Given the description of an element on the screen output the (x, y) to click on. 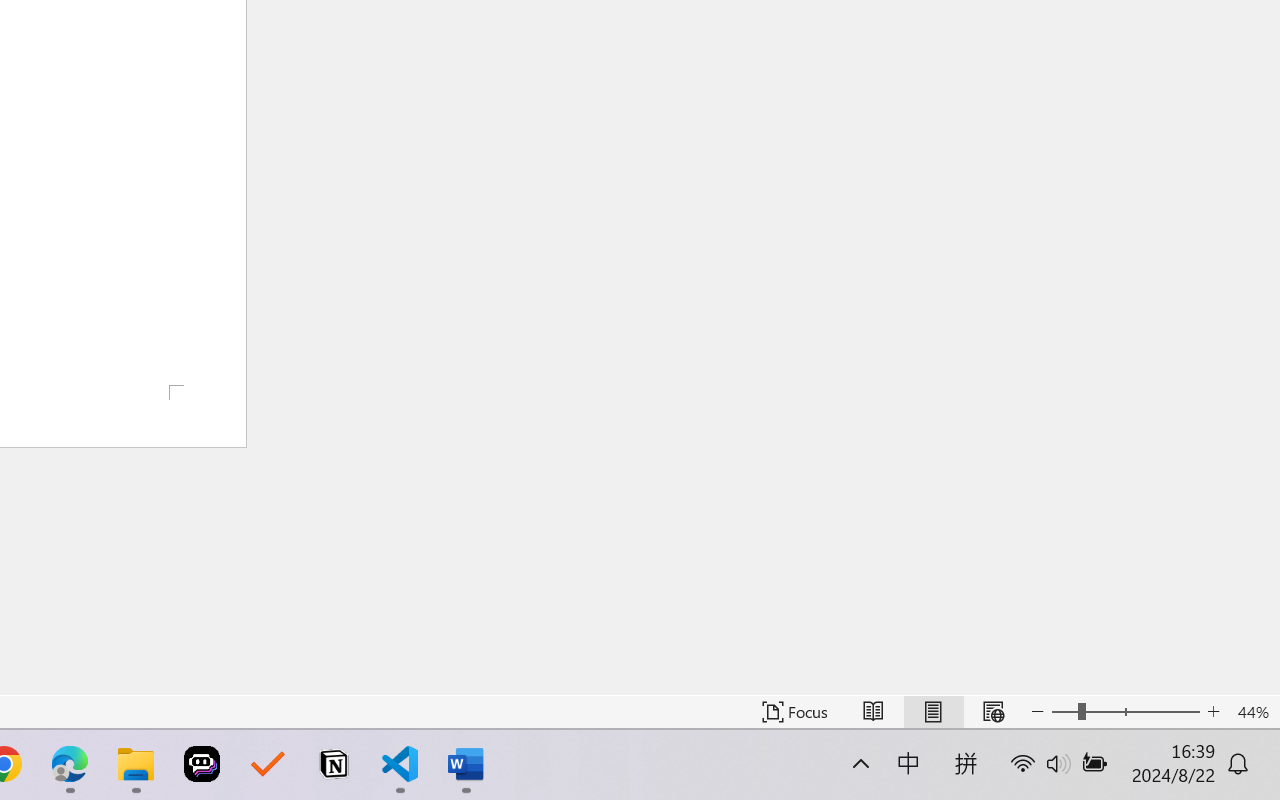
Notion (333, 764)
